Given the description of an element on the screen output the (x, y) to click on. 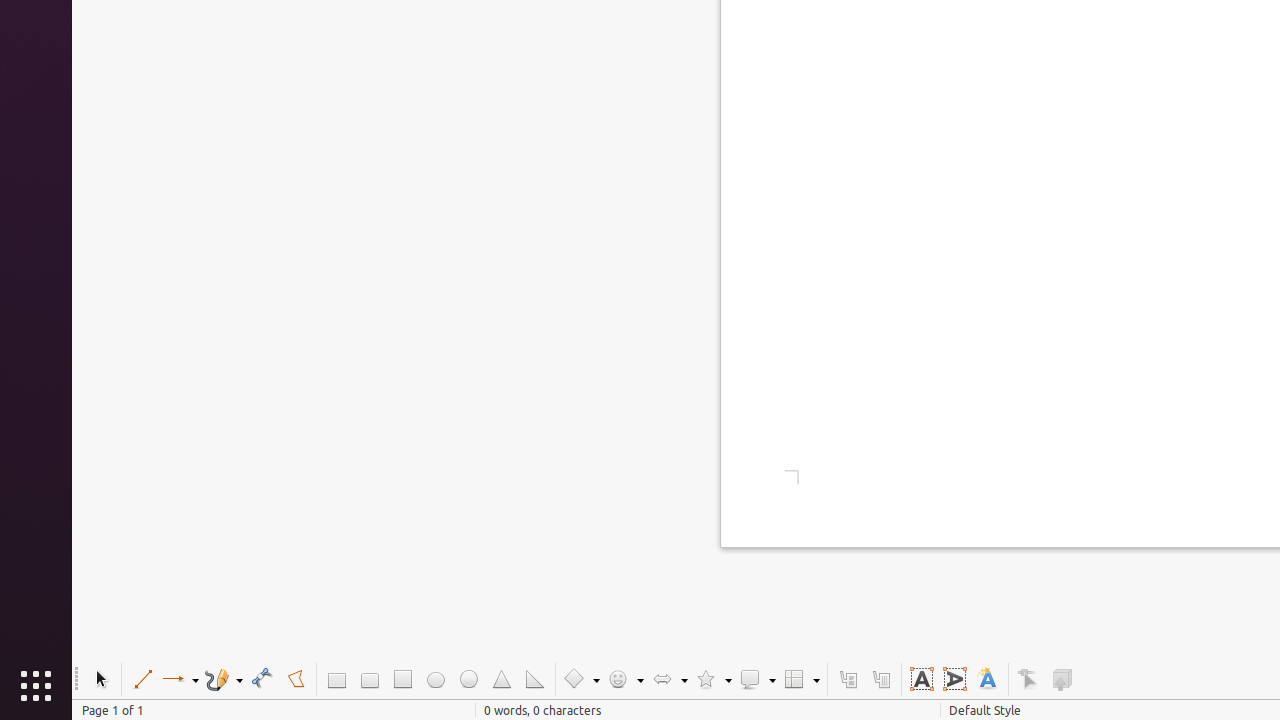
Curve Element type: push-button (262, 679)
Flowchart Shapes Element type: push-button (801, 679)
Polygon Element type: push-button (295, 679)
Symbol Shapes Element type: push-button (625, 679)
Arrow Shapes Element type: push-button (669, 679)
